Given the description of an element on the screen output the (x, y) to click on. 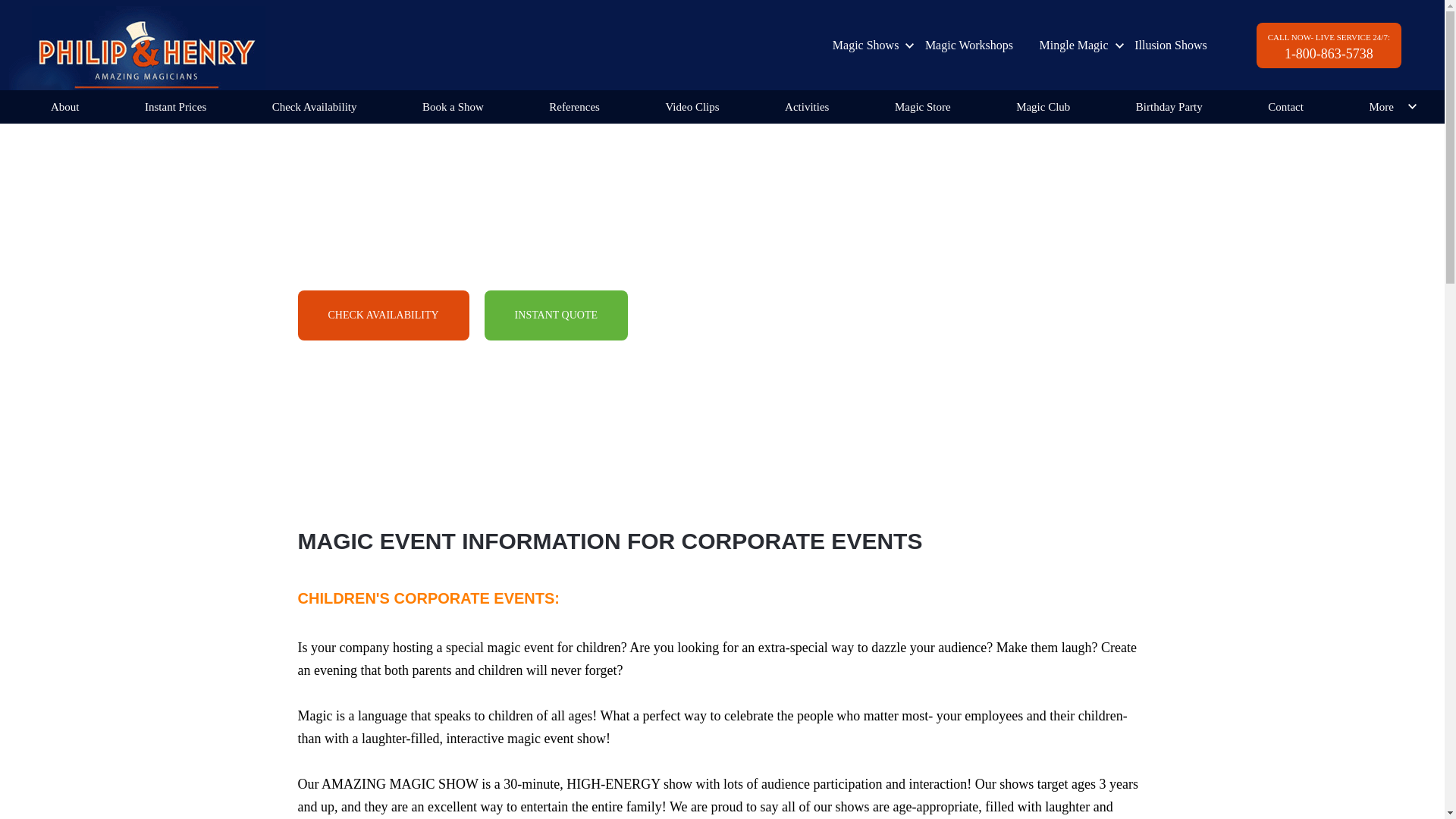
Magic Shows (866, 44)
Magic Workshops (969, 44)
Mingle Magic (1073, 44)
Instant Prices (174, 106)
References (574, 106)
Check Availability (314, 106)
Video Clips (691, 106)
More (1380, 106)
Birthday Party (1169, 106)
Activities (806, 106)
Magic Club (1042, 106)
Contact (1285, 106)
Magic Store (922, 106)
Illusion Shows (1170, 44)
Book a Show (452, 106)
